Given the description of an element on the screen output the (x, y) to click on. 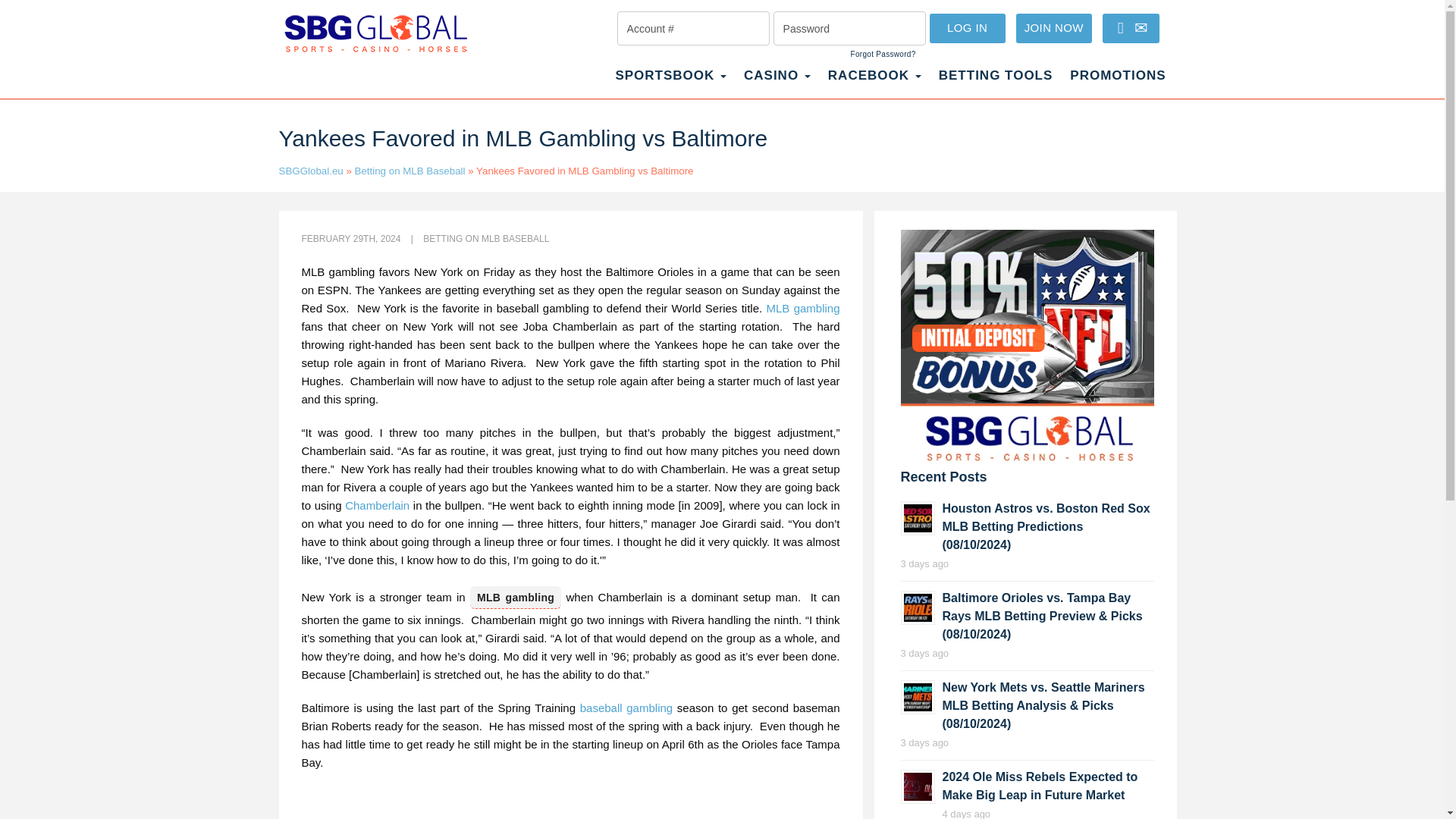
LOG IN (968, 28)
JOIN NOW (1054, 28)
Sportsbook (670, 83)
SPORTSBOOK (670, 83)
Forgot Password? (882, 53)
